Given the description of an element on the screen output the (x, y) to click on. 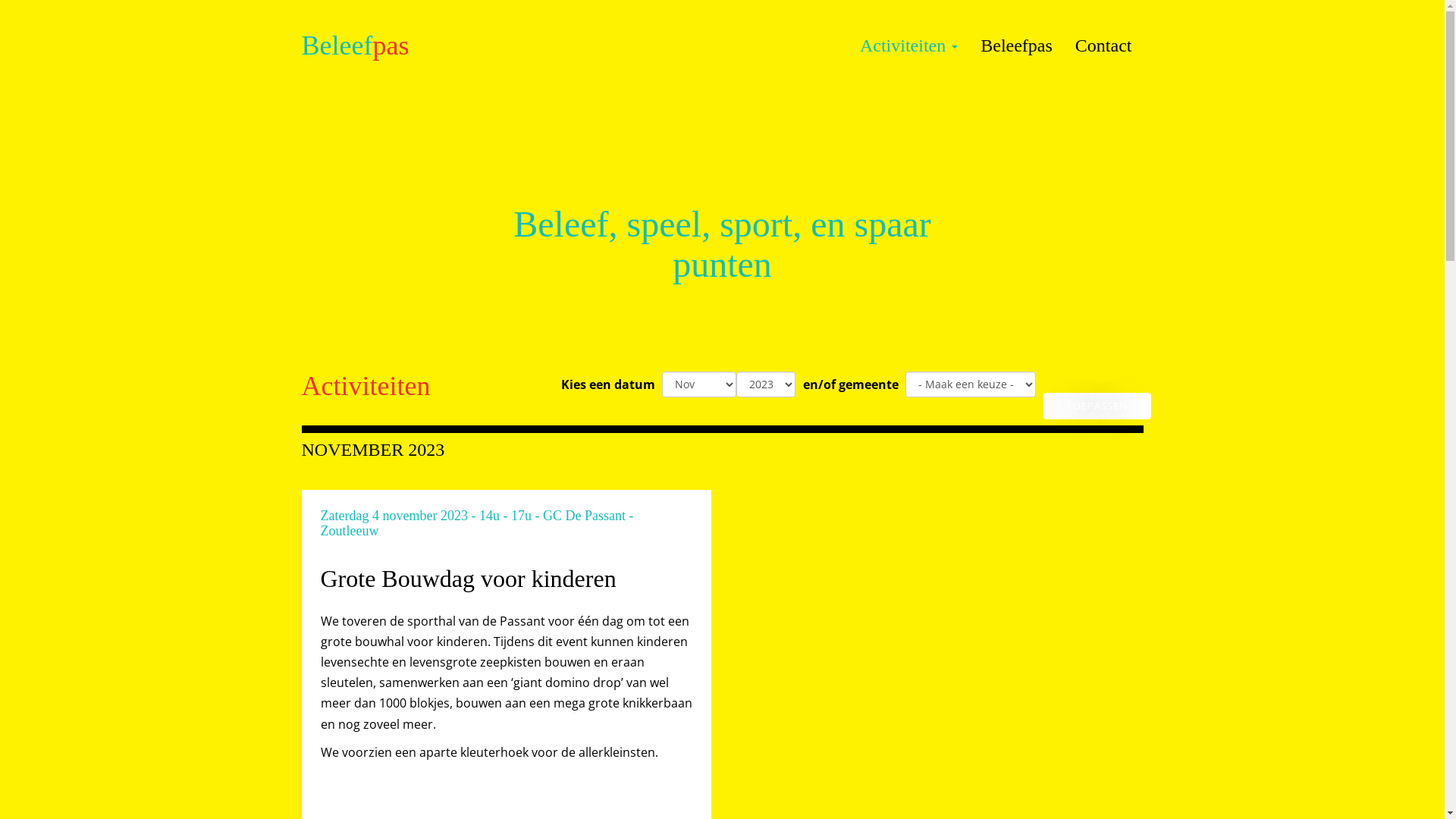
Skip to main content Element type: text (0, 15)
Contact Element type: text (1103, 45)
Beleefpas Element type: text (1016, 45)
Beleefpas Element type: text (354, 45)
Activiteiten Element type: text (908, 45)
TOEPASSEN Element type: text (1097, 405)
